Given the description of an element on the screen output the (x, y) to click on. 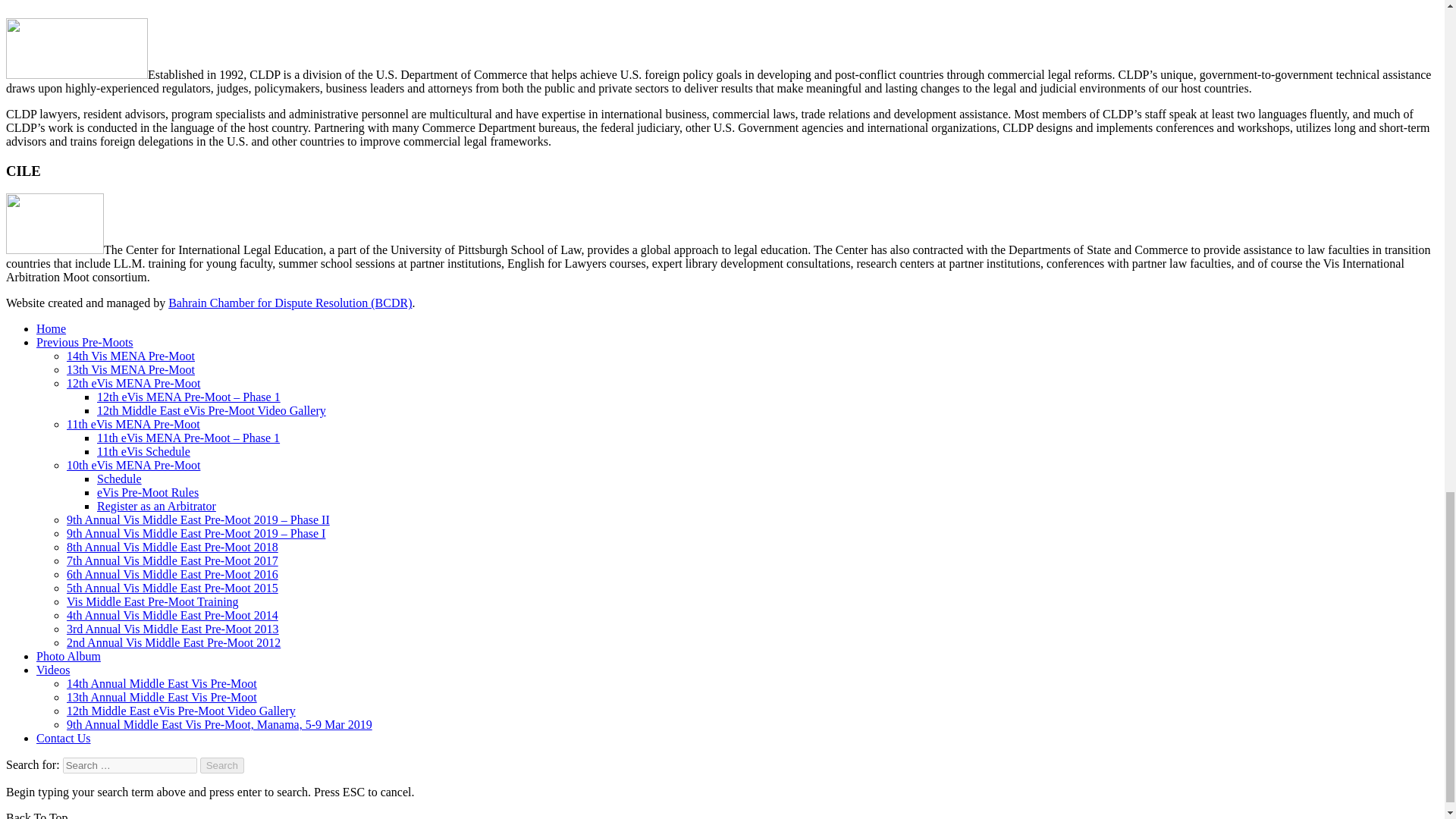
Search (222, 765)
Search (222, 765)
